Given the description of an element on the screen output the (x, y) to click on. 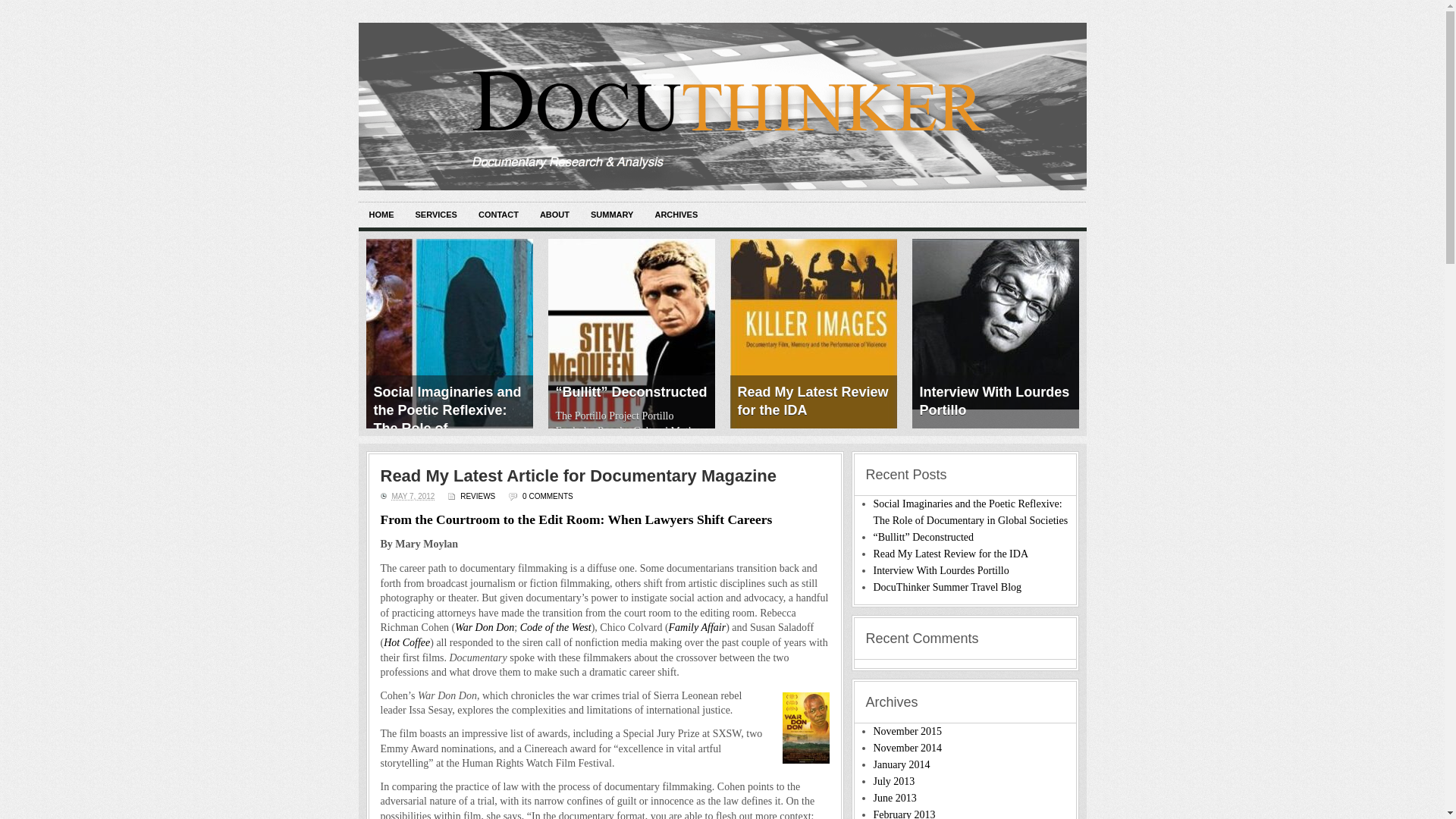
June 2013 (895, 797)
Hot Coffee (406, 642)
Interview With Lourdes Portillo (994, 324)
Code of the West (555, 627)
HOME (381, 215)
CONTACT (498, 215)
SERVICES (435, 215)
0 COMMENTS (547, 496)
DocuThinker Summer Travel Blog (947, 586)
July 2013 (894, 781)
SUMMARY (611, 215)
Leave a response (547, 496)
Family Affair (697, 627)
November 2015 (907, 731)
